Given the description of an element on the screen output the (x, y) to click on. 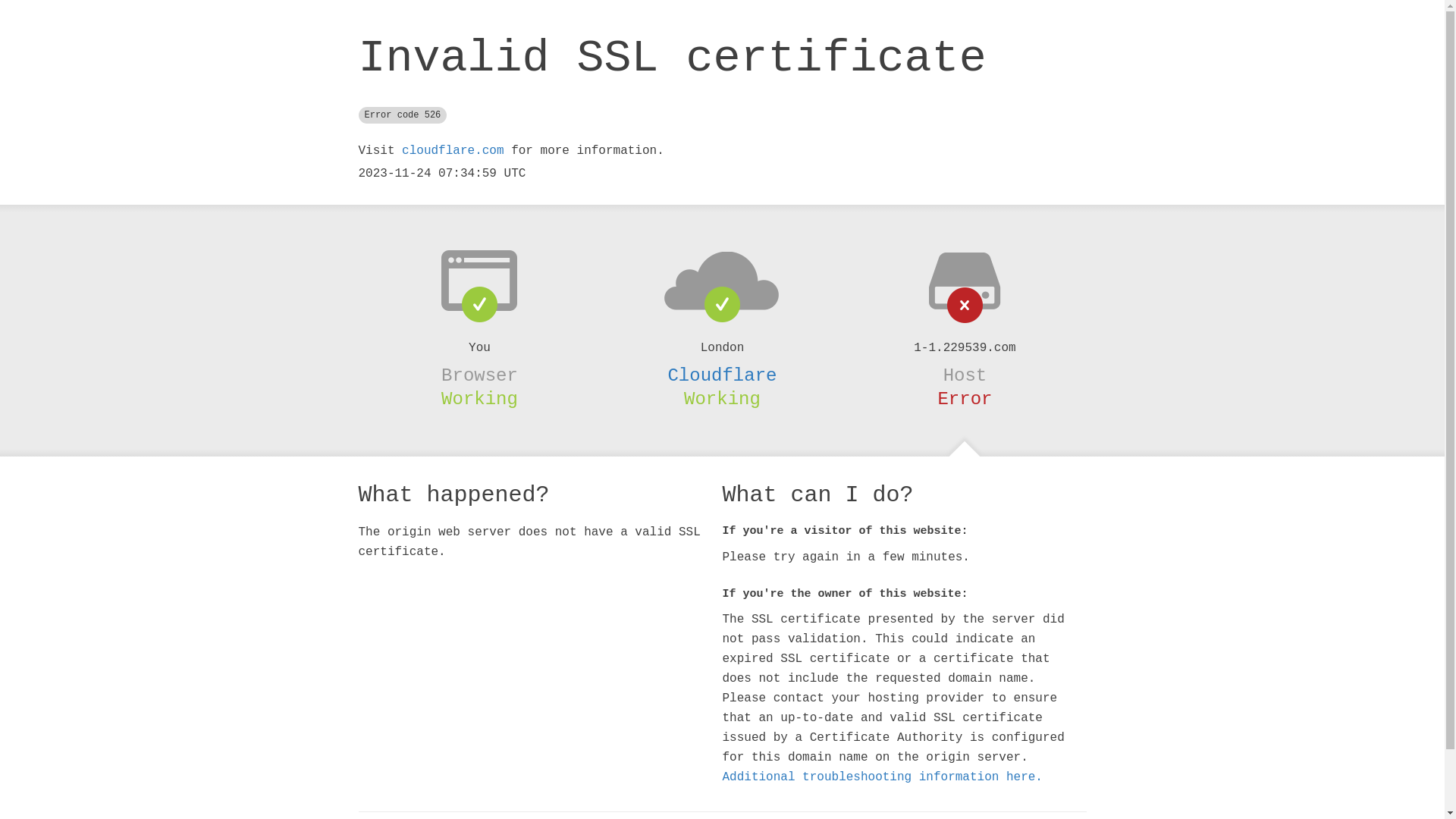
Cloudflare Element type: text (721, 375)
Additional troubleshooting information here. Element type: text (881, 777)
cloudflare.com Element type: text (452, 150)
